Given the description of an element on the screen output the (x, y) to click on. 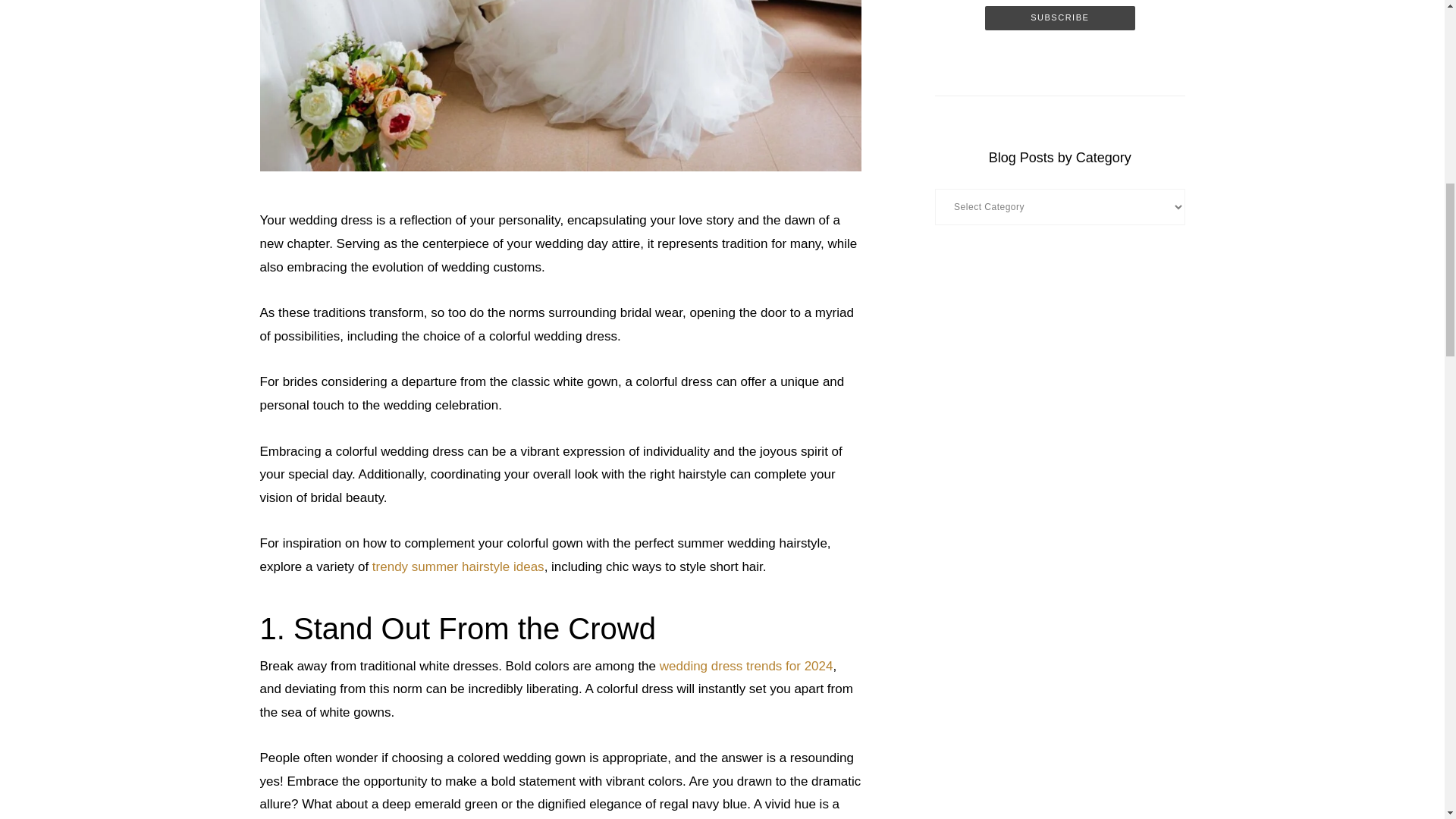
Subscribe (1060, 17)
Subscribe (1060, 17)
trendy summer hairstyle ideas (458, 566)
wedding dress trends for 2024 (745, 666)
